Given the description of an element on the screen output the (x, y) to click on. 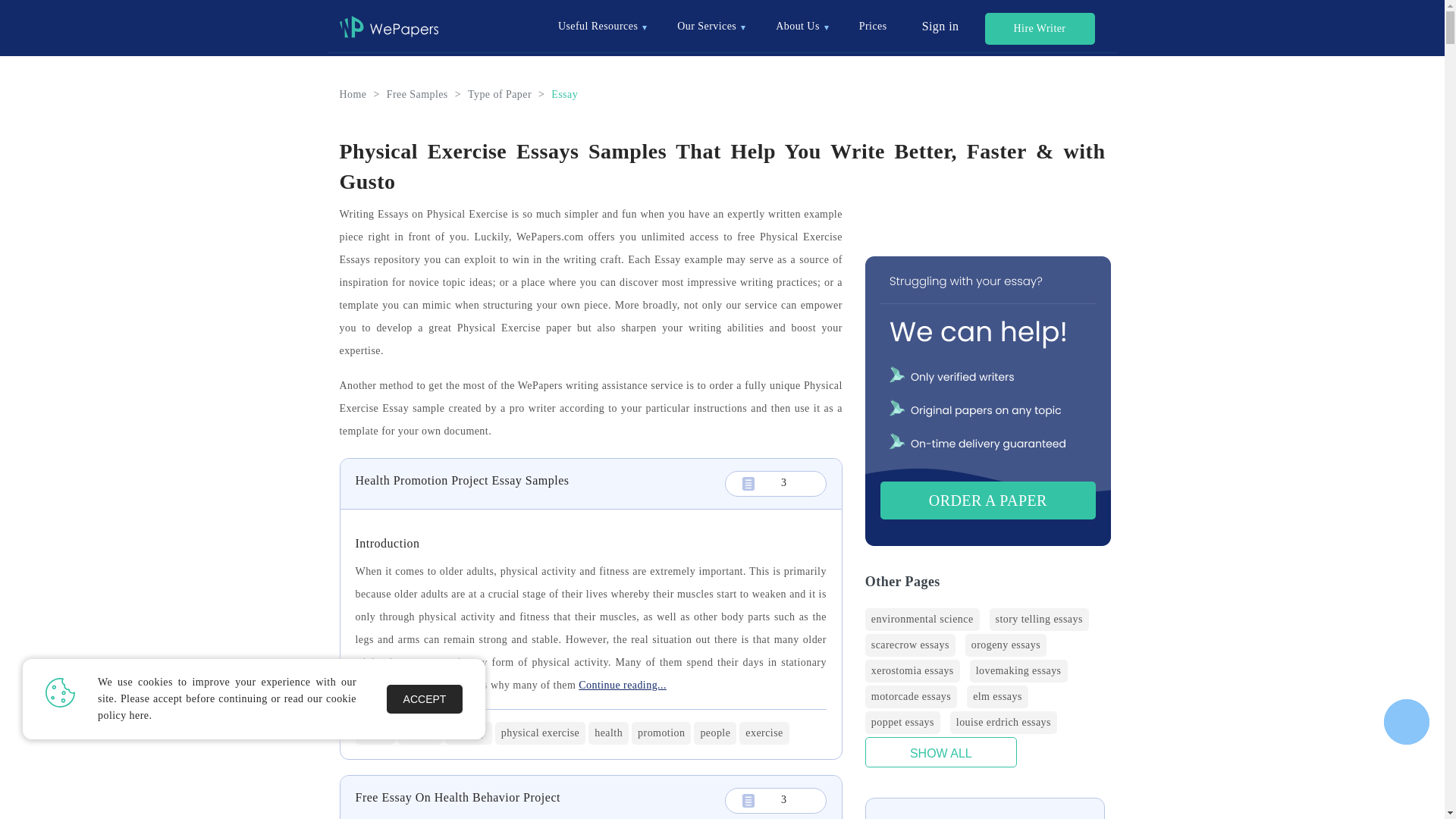
Type of Paper  (499, 94)
Home (352, 94)
Free Samples (417, 94)
Essay (564, 94)
